Given the description of an element on the screen output the (x, y) to click on. 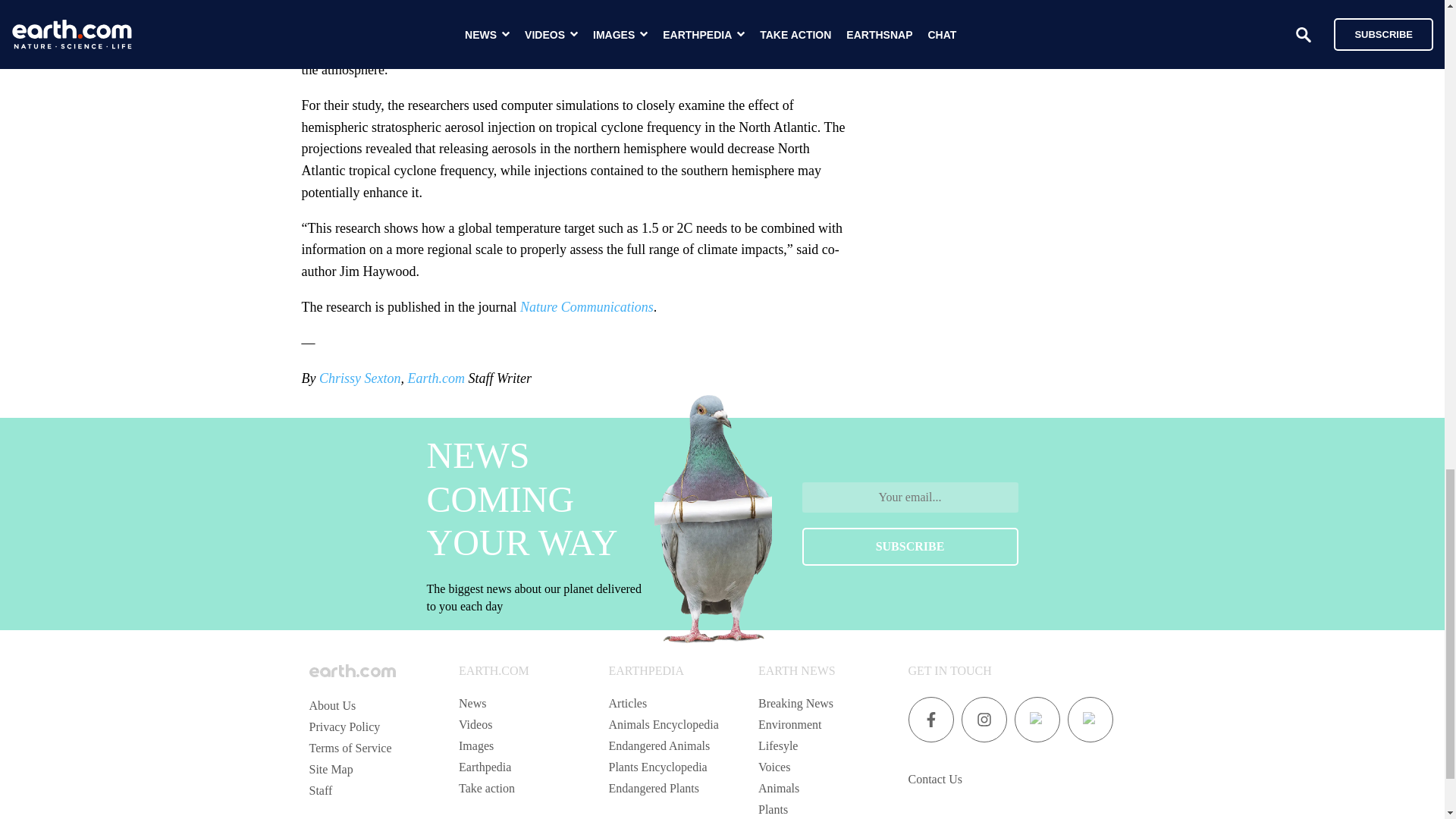
Earth.com (435, 378)
Chrissy Sexton (359, 378)
Nature Communications (586, 306)
SUBSCRIBE (909, 546)
